Given the description of an element on the screen output the (x, y) to click on. 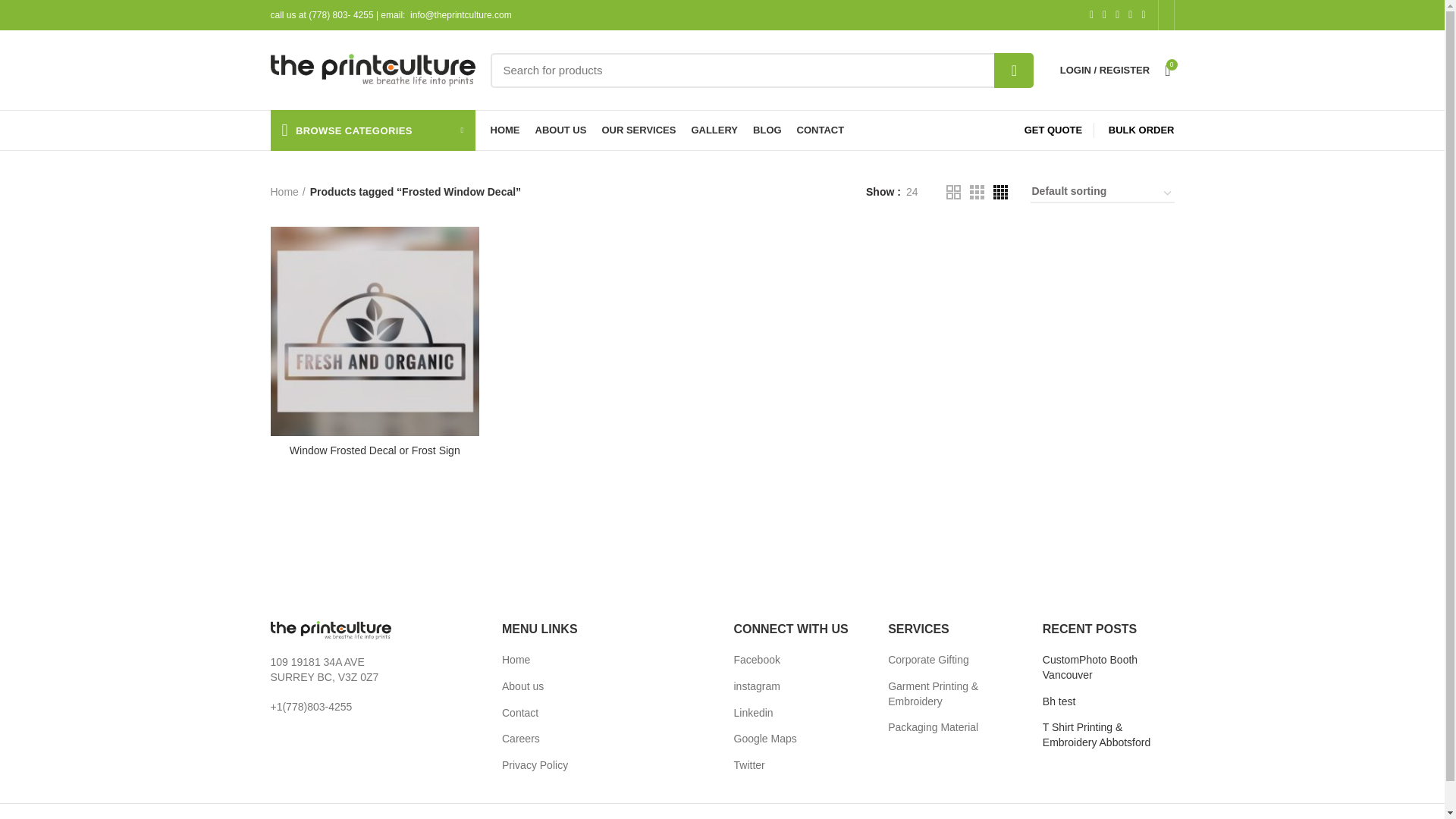
Search for products (760, 70)
SEARCH (1013, 70)
My account (1104, 69)
